Given the description of an element on the screen output the (x, y) to click on. 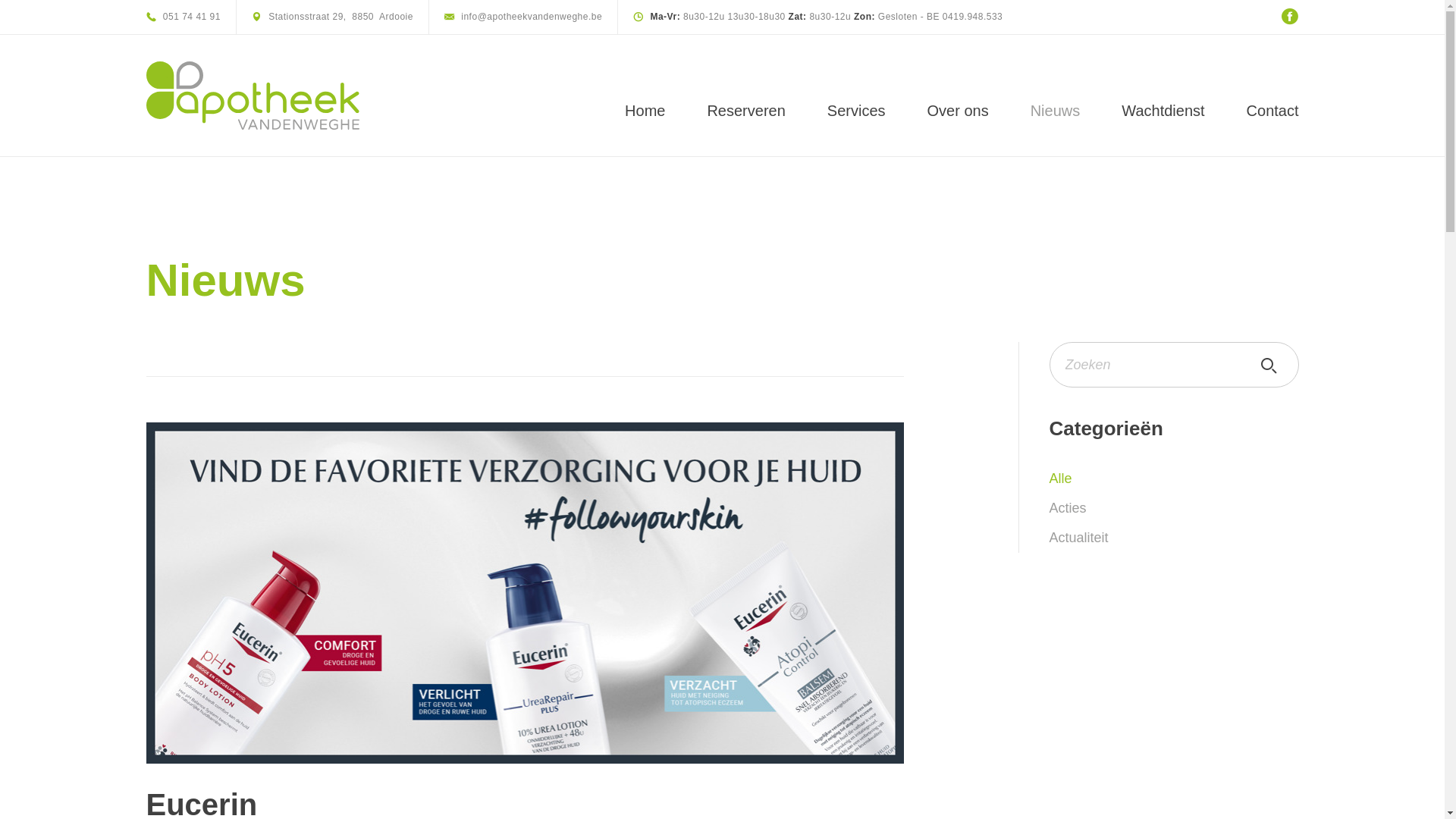
Alle Element type: text (1174, 478)
Over ons Element type: text (957, 110)
Actualiteit Element type: text (1174, 537)
Home Element type: text (644, 110)
Contact Element type: text (1272, 110)
info@apotheekvandenweghe.be Element type: text (523, 16)
Stationsstraat 29,  8850  Ardooie Element type: text (332, 16)
Lees meer Element type: hover (524, 592)
Acties Element type: text (1174, 508)
Wachtdienst Element type: text (1162, 110)
Nieuws Element type: text (1055, 110)
Services Element type: text (856, 110)
Reserveren Element type: text (745, 110)
051 74 41 91 Element type: text (182, 16)
